Given the description of an element on the screen output the (x, y) to click on. 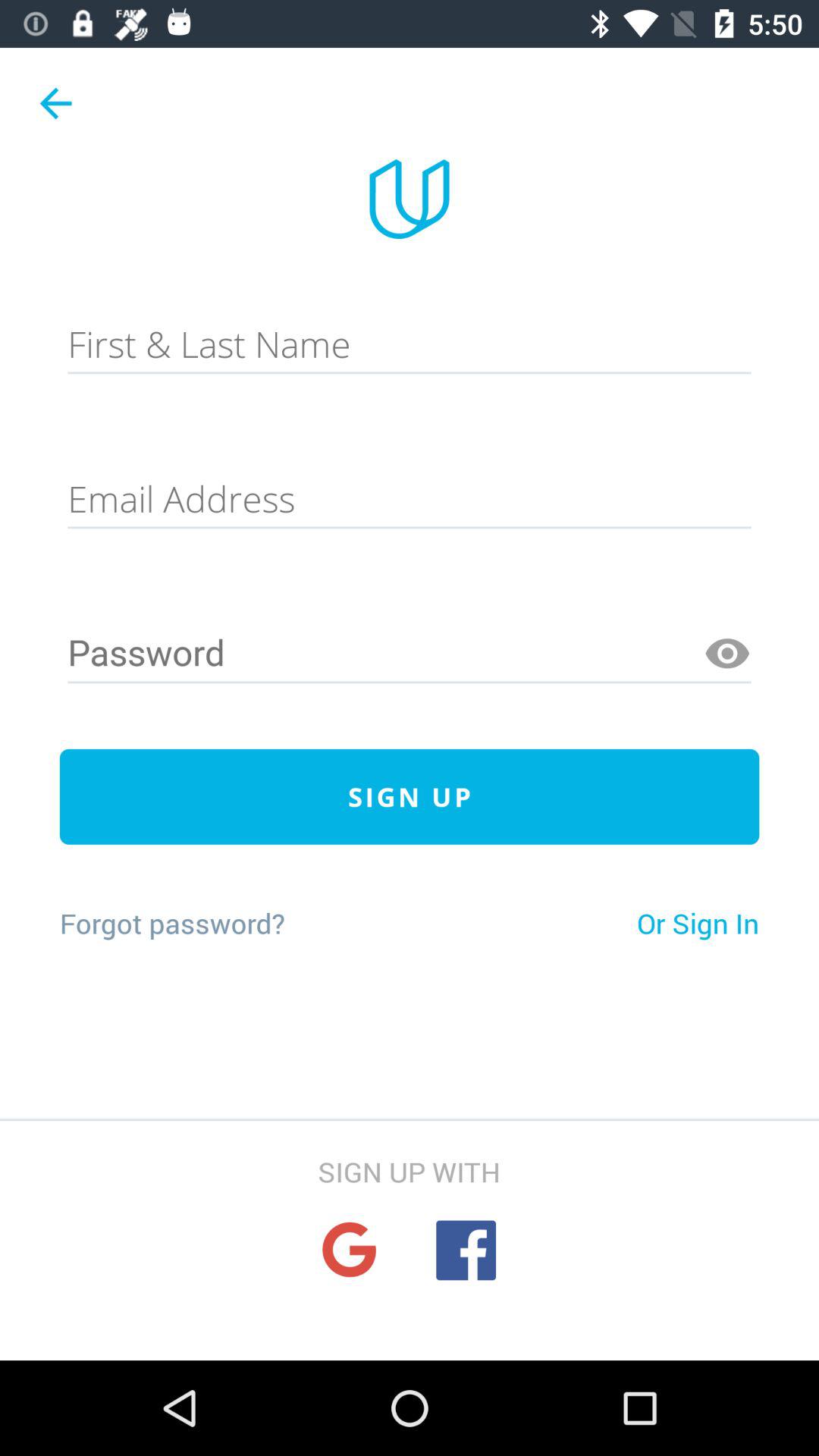
open the icon above sign up icon (727, 653)
